Given the description of an element on the screen output the (x, y) to click on. 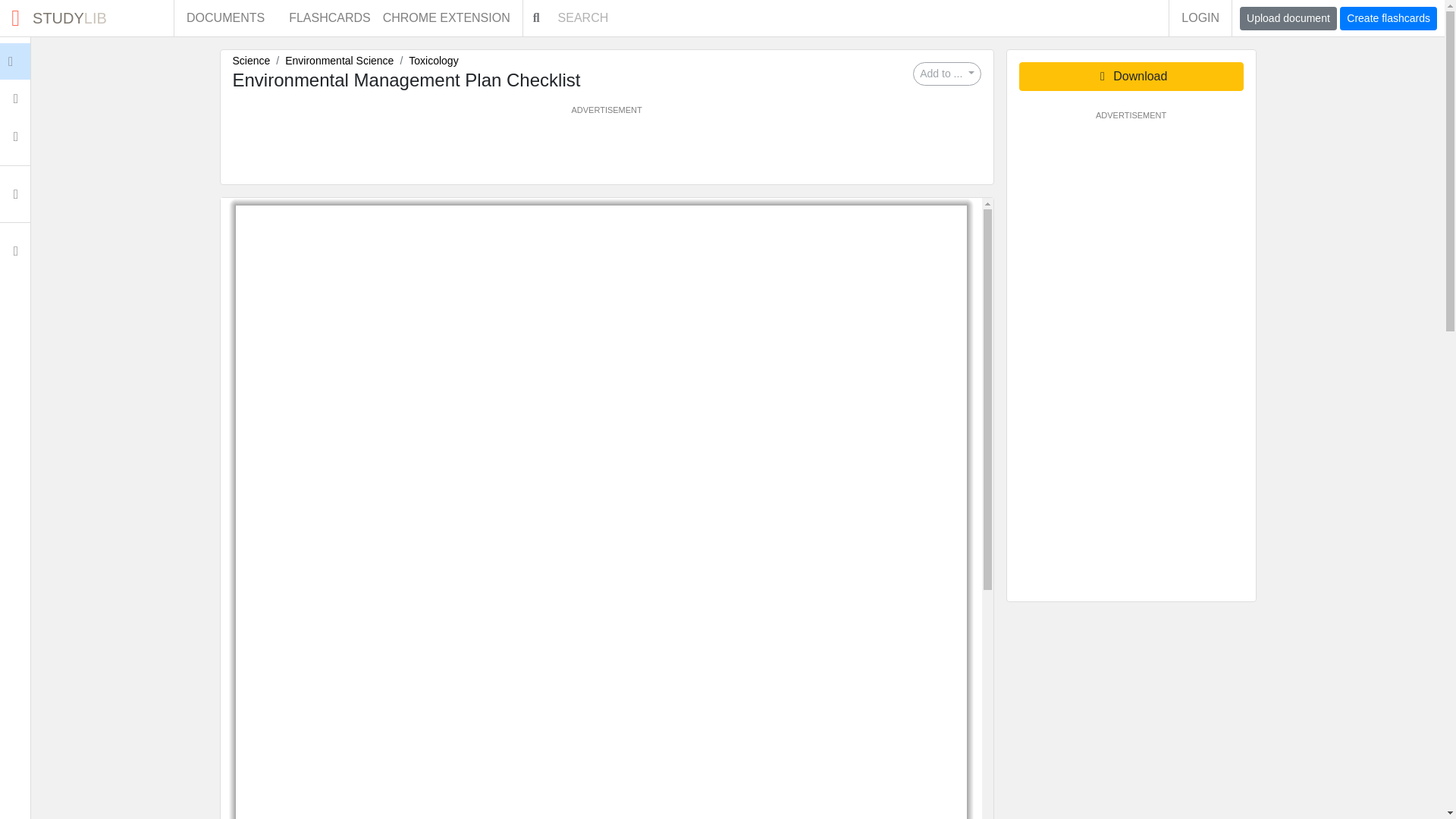
Upload document (1288, 18)
Environmental Science (339, 60)
Advertisement (605, 150)
FLASHCARDS (329, 18)
Add to ... (946, 73)
DOCUMENTS (86, 18)
Toxicology (225, 18)
LOGIN (433, 60)
CHROME EXTENSION (1200, 18)
Science (452, 18)
Login (250, 60)
Create flashcards (45, 61)
